Given the description of an element on the screen output the (x, y) to click on. 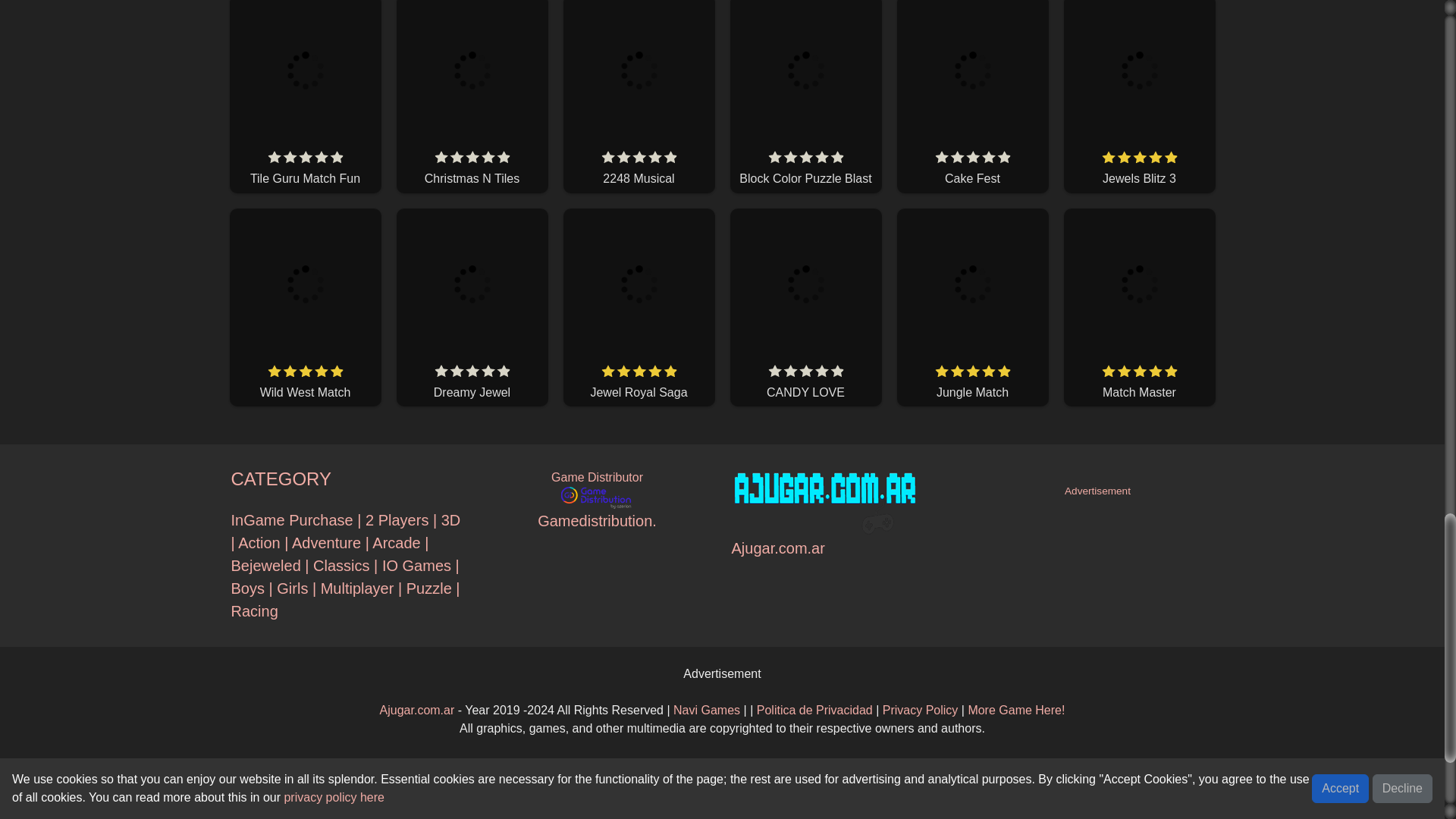
Ajugar (920, 709)
Ajugar (417, 709)
Navi Games (705, 709)
Ajugar (814, 709)
